Given the description of an element on the screen output the (x, y) to click on. 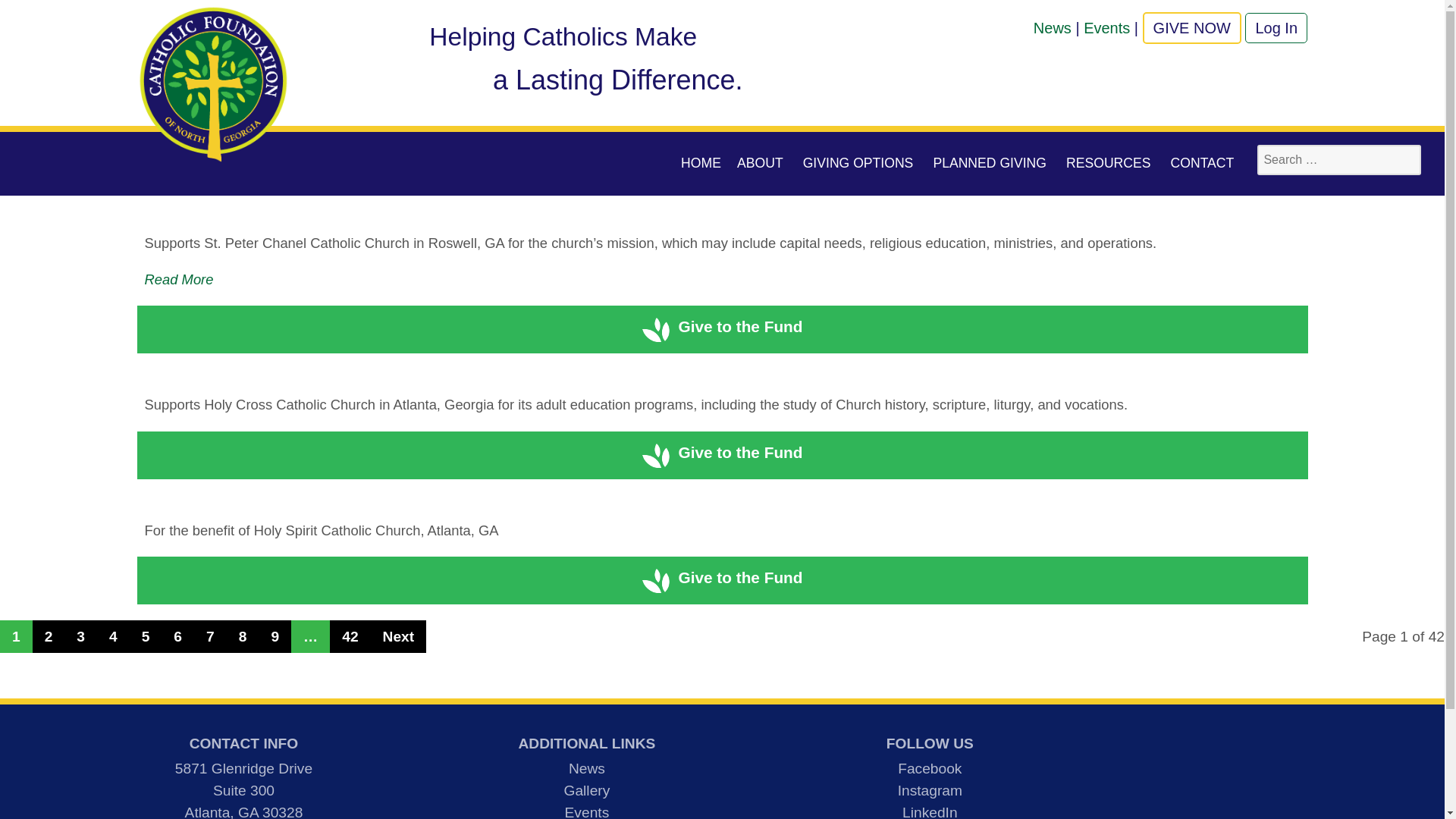
HOME (700, 163)
News (1052, 27)
Events (1106, 27)
Give to the Fund (722, 325)
GIVE NOW (1191, 28)
GIVING OPTIONS (860, 163)
Sienna (212, 18)
RESOURCES (1109, 163)
PLANNED GIVING (991, 163)
CONTACT (1202, 163)
